Given the description of an element on the screen output the (x, y) to click on. 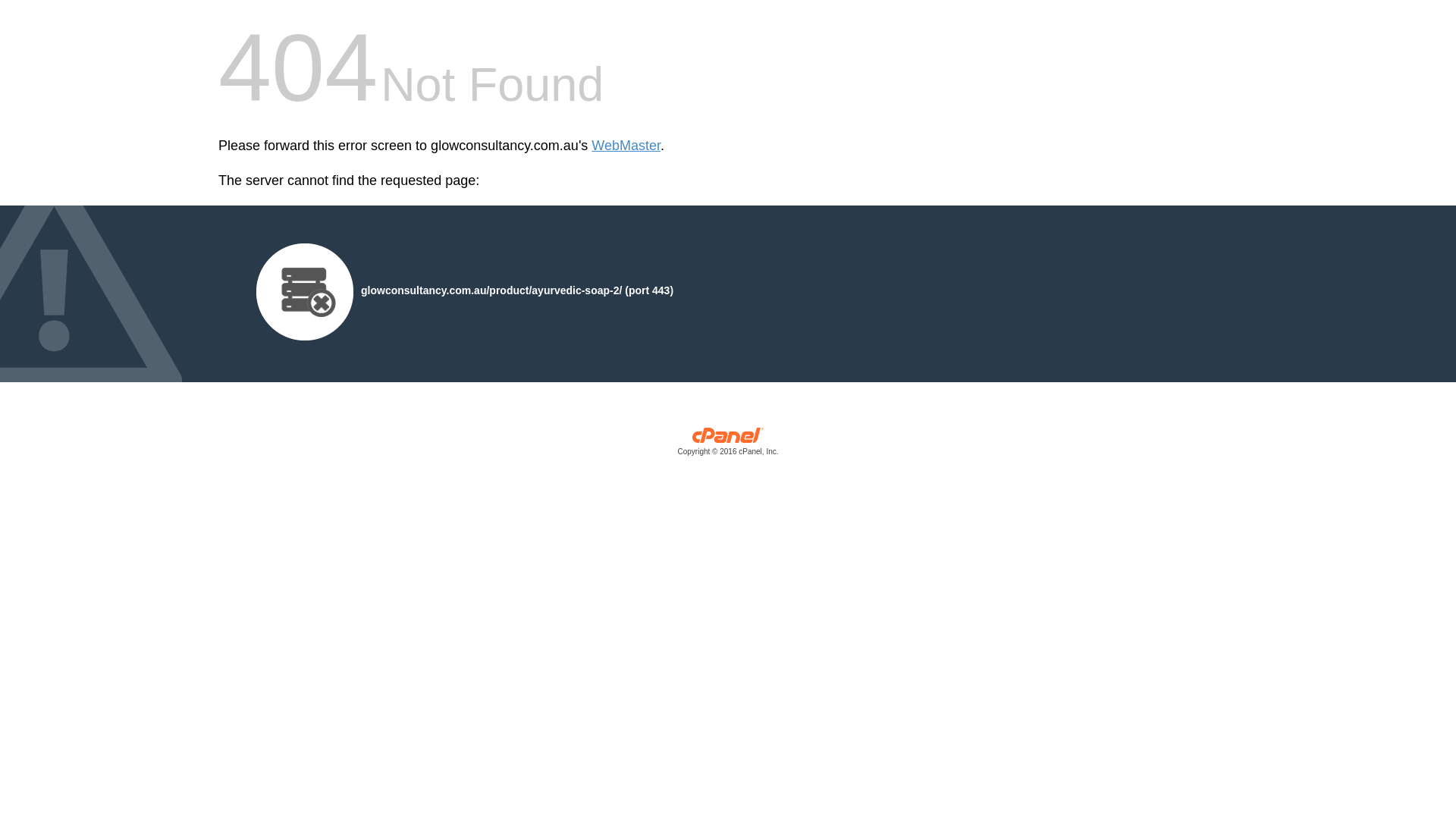
WebMaster Element type: text (625, 145)
